Given the description of an element on the screen output the (x, y) to click on. 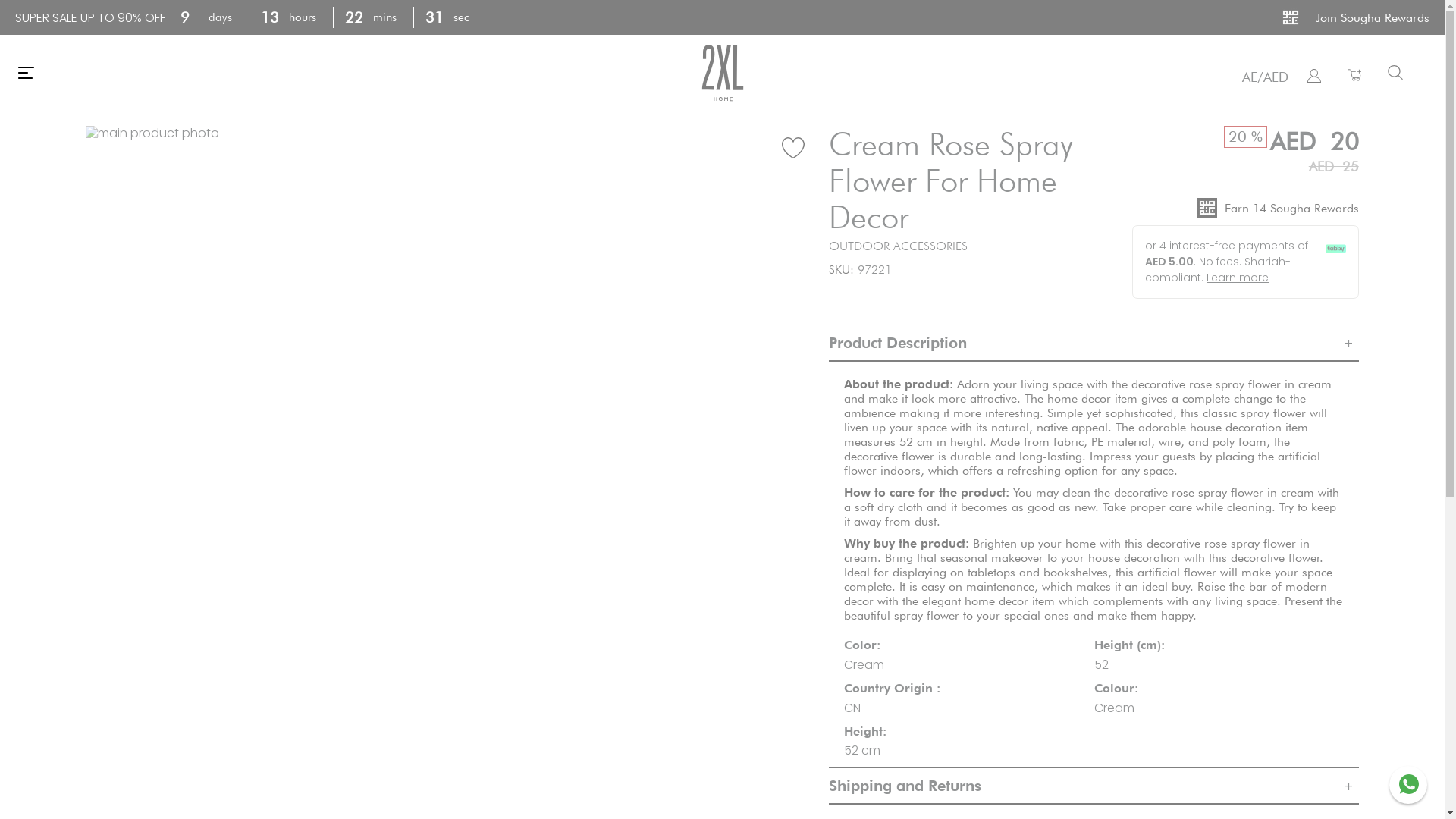
Skip to the beginning of the images gallery Element type: text (84, 141)
Sign In Element type: text (1314, 74)
Skip to the end of the images gallery Element type: text (84, 125)
OUTDOOR ACCESSORIES Element type: text (897, 245)
Add to Wish List Element type: text (789, 144)
Earn 14 Sougha Rewards Element type: text (1245, 207)
My Cart Element type: text (1354, 73)
Join Sougha Rewards Element type: text (1354, 17)
